Given the description of an element on the screen output the (x, y) to click on. 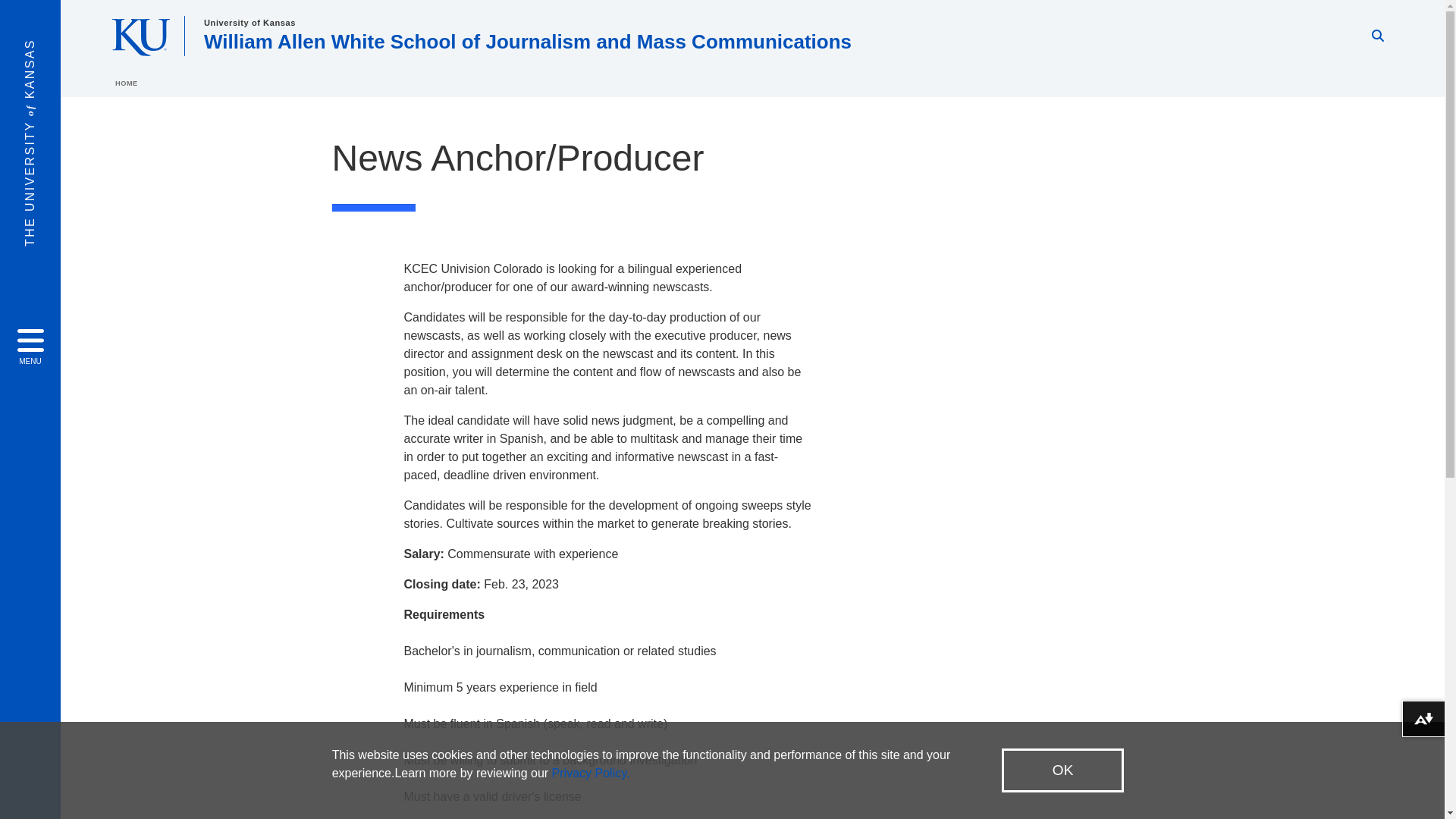
OK (1062, 770)
Privacy Policy. (590, 772)
University of Kansas (249, 22)
